Given the description of an element on the screen output the (x, y) to click on. 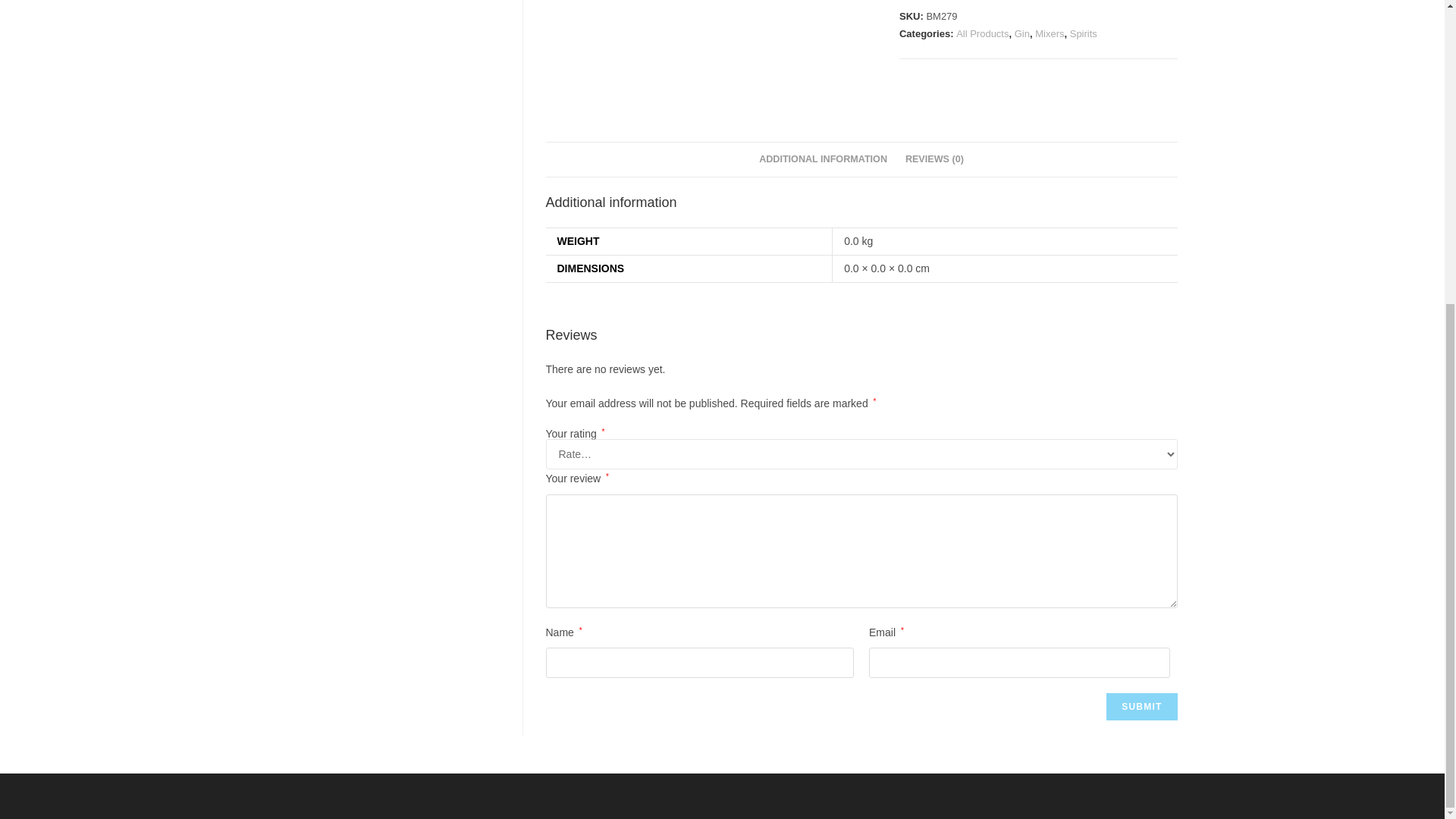
All Products (982, 33)
ADDITIONAL INFORMATION (823, 159)
Spirits (1083, 33)
Submit (1141, 706)
Submit (1141, 706)
Gin (1021, 33)
Mixers (1049, 33)
